Given the description of an element on the screen output the (x, y) to click on. 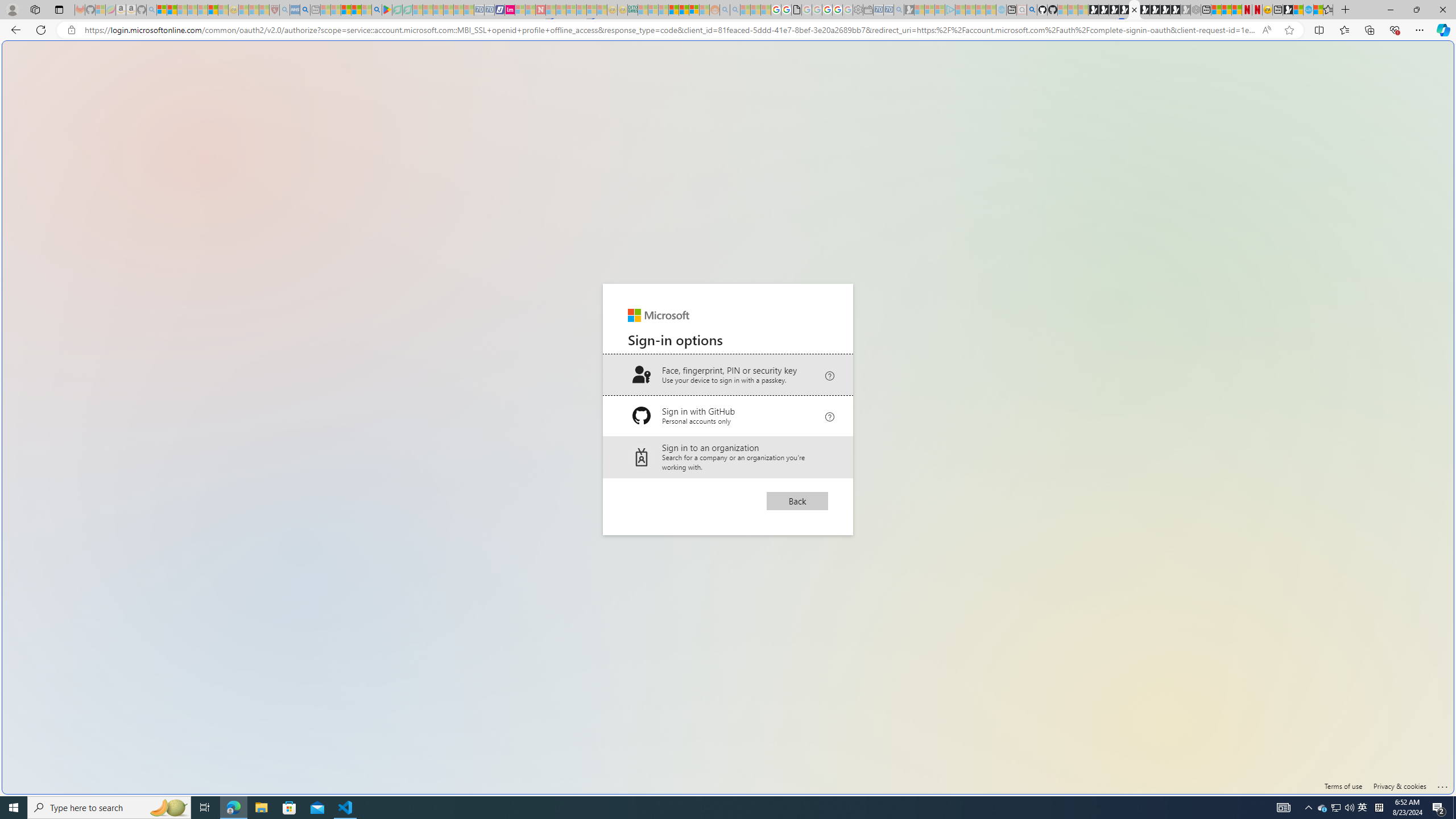
Class: row tile (727, 457)
